Given the description of an element on the screen output the (x, y) to click on. 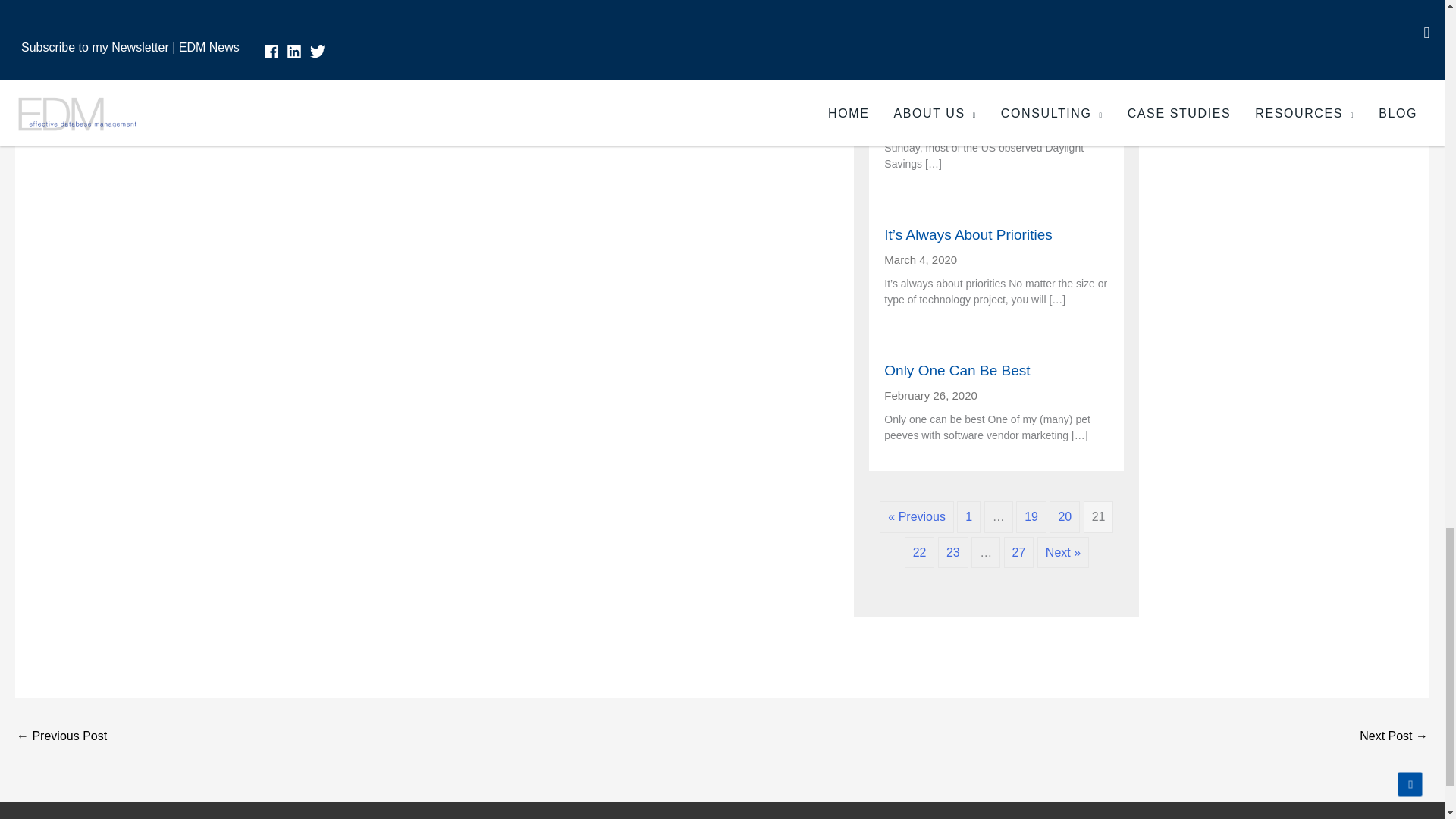
Daylight savings and business rules (995, 75)
Only one can be best (995, 371)
